Given the description of an element on the screen output the (x, y) to click on. 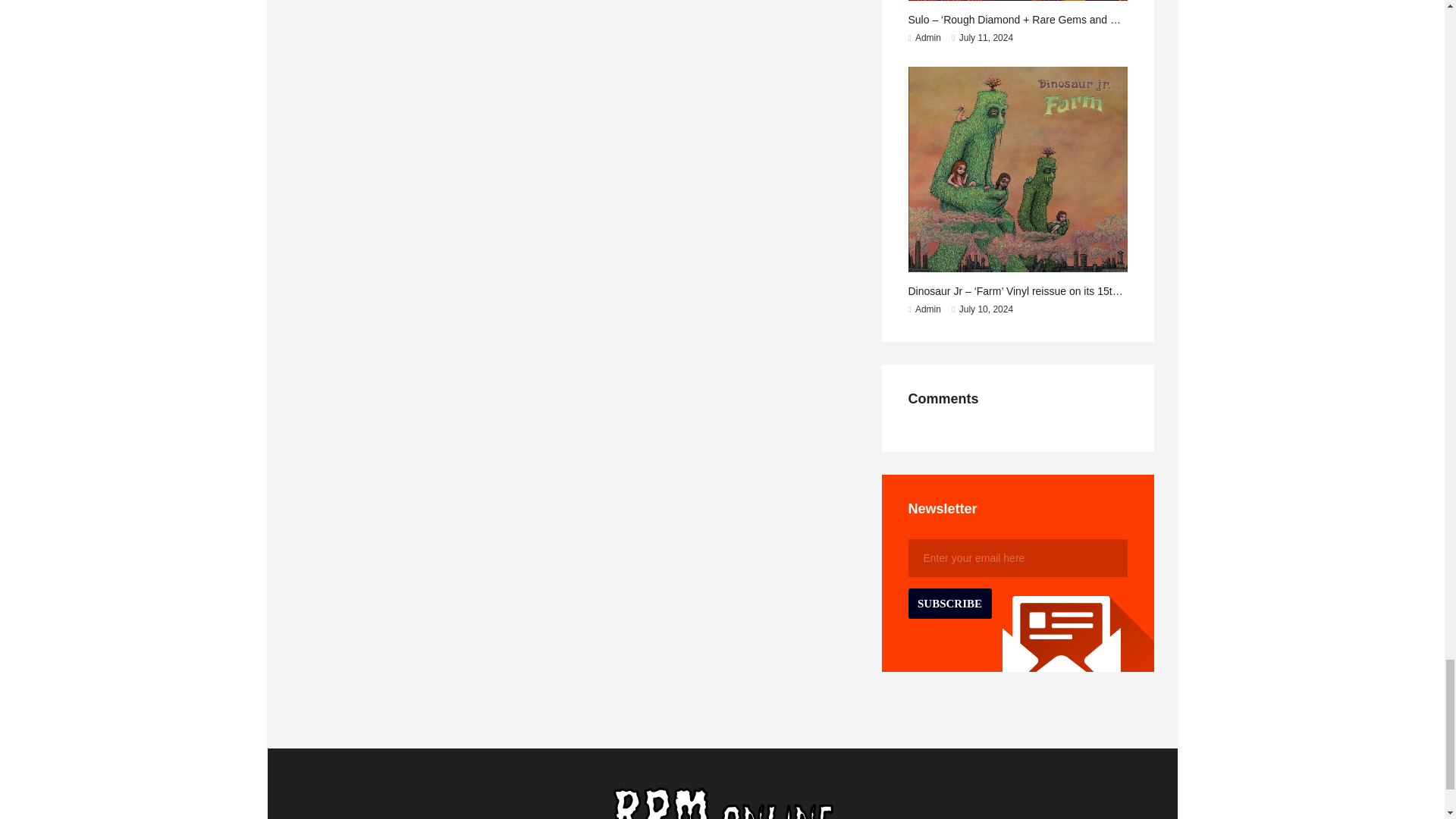
RPM Online (722, 812)
Subscribe (949, 603)
